Given the description of an element on the screen output the (x, y) to click on. 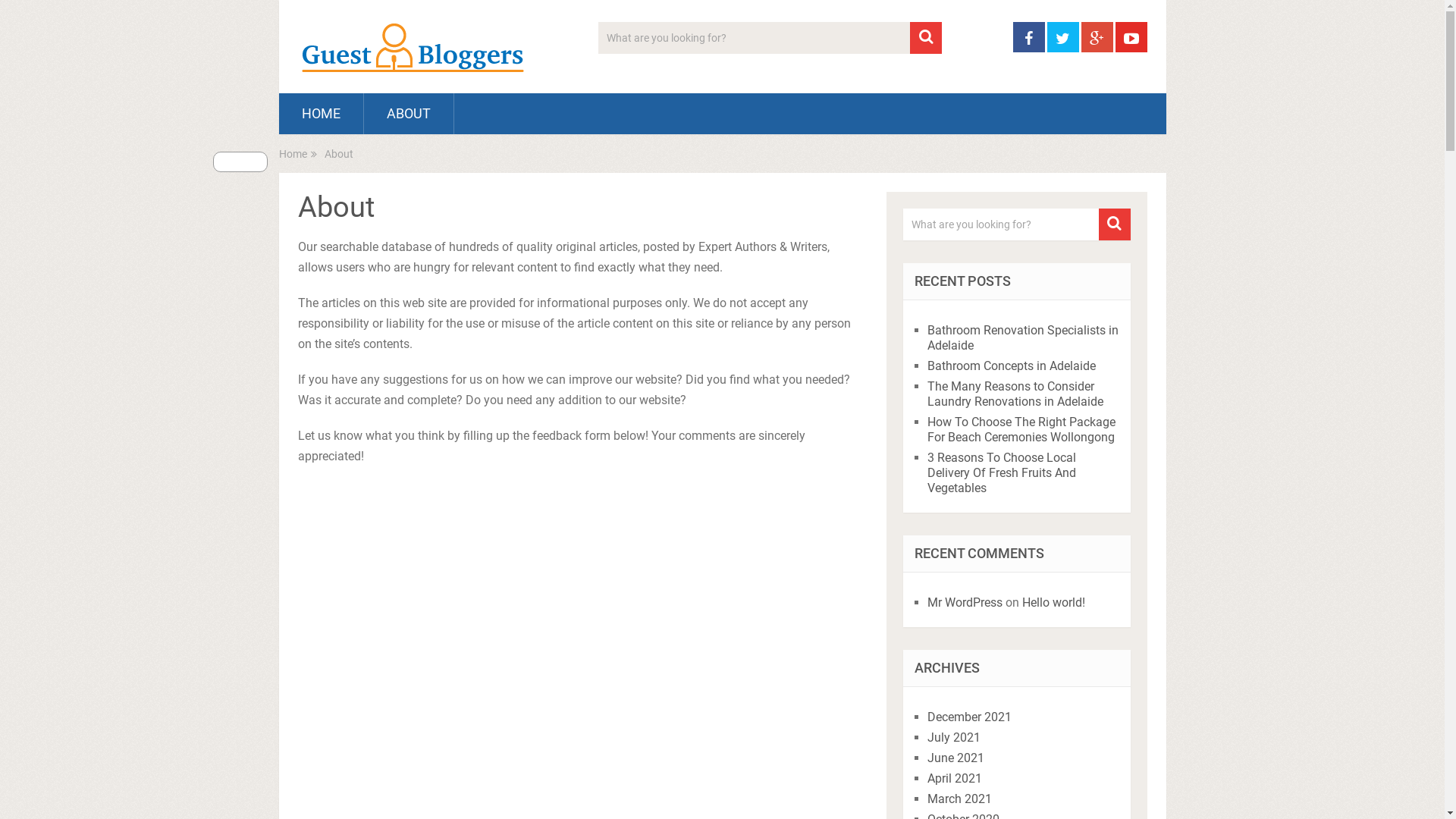
HOME Element type: text (321, 113)
The Many Reasons to Consider Laundry Renovations in Adelaide Element type: text (1015, 393)
Mr WordPress Element type: text (964, 602)
June 2021 Element type: text (955, 757)
July 2021 Element type: text (953, 737)
April 2021 Element type: text (954, 778)
March 2021 Element type: text (959, 798)
Bathroom Concepts in Adelaide Element type: text (1011, 365)
Bathroom Renovation Specialists in Adelaide Element type: text (1022, 337)
December 2021 Element type: text (969, 716)
Home Element type: text (293, 153)
ABOUT Element type: text (408, 113)
Hello world! Element type: text (1053, 602)
